Given the description of an element on the screen output the (x, y) to click on. 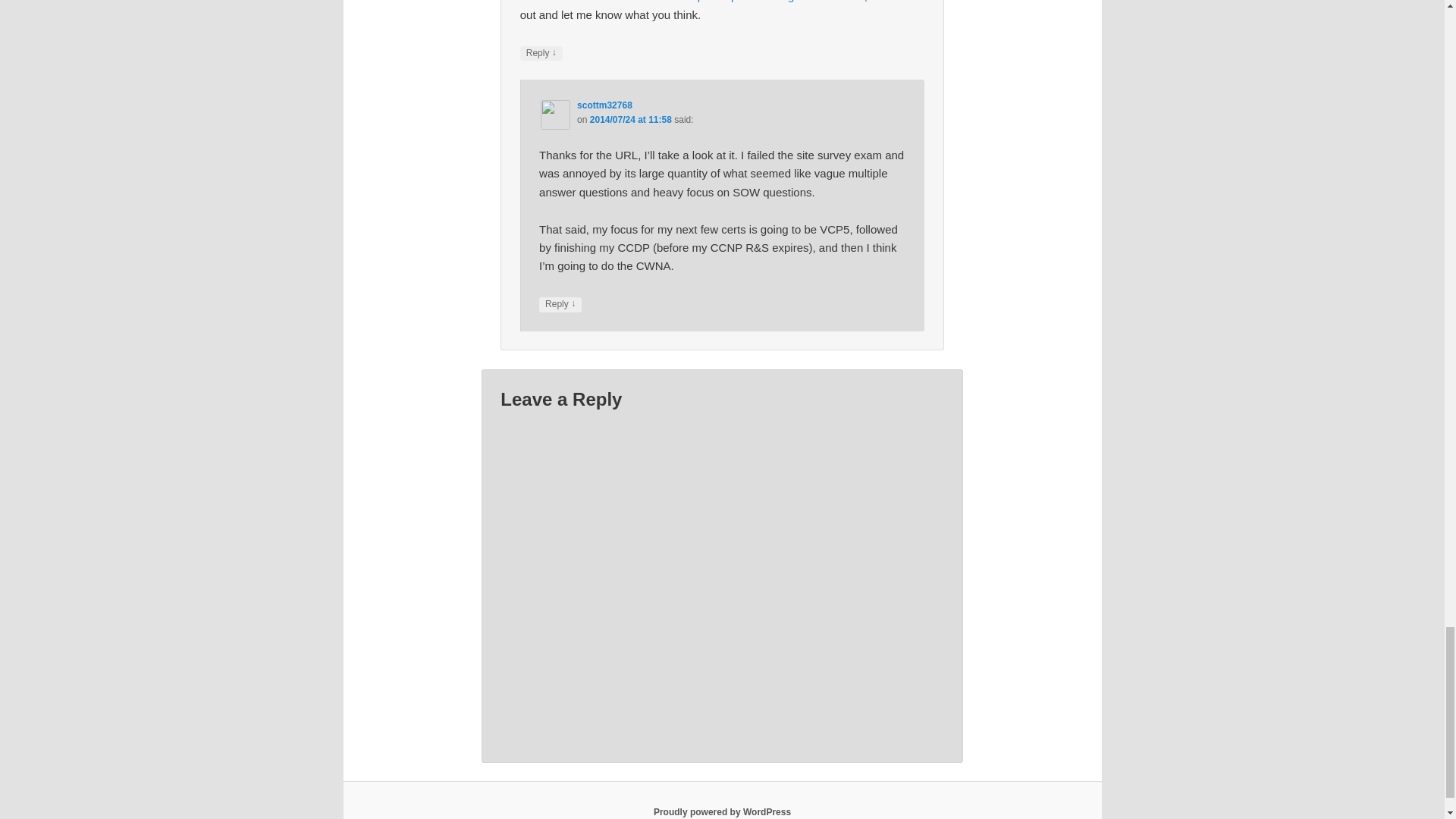
Semantic Personal Publishing Platform (721, 810)
